Given the description of an element on the screen output the (x, y) to click on. 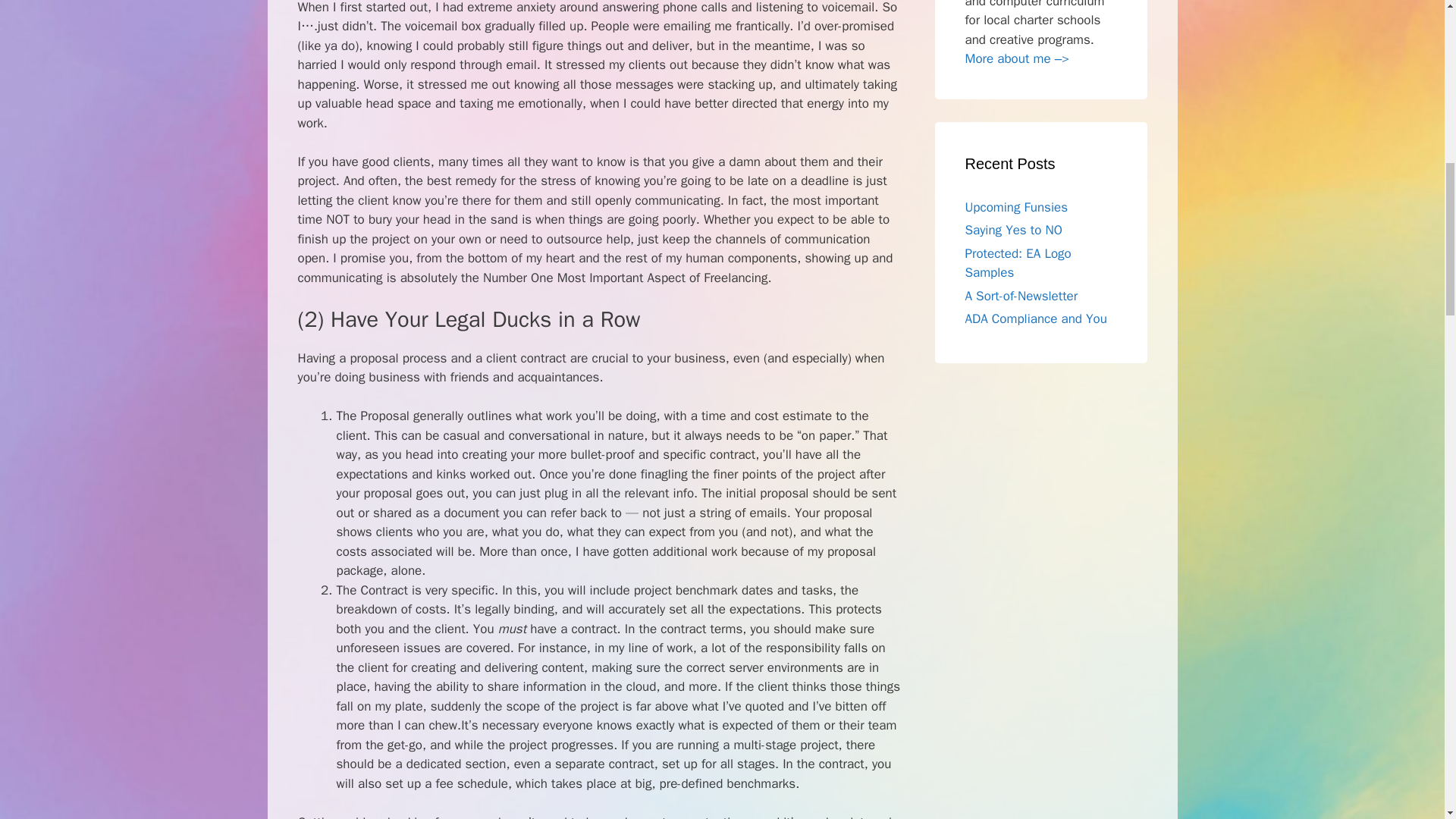
Upcoming Funsies (1015, 207)
Protected: EA Logo Samples (1016, 263)
A Sort-of-Newsletter (1020, 295)
ADA Compliance and You (1034, 318)
Saying Yes to NO (1012, 229)
